Given the description of an element on the screen output the (x, y) to click on. 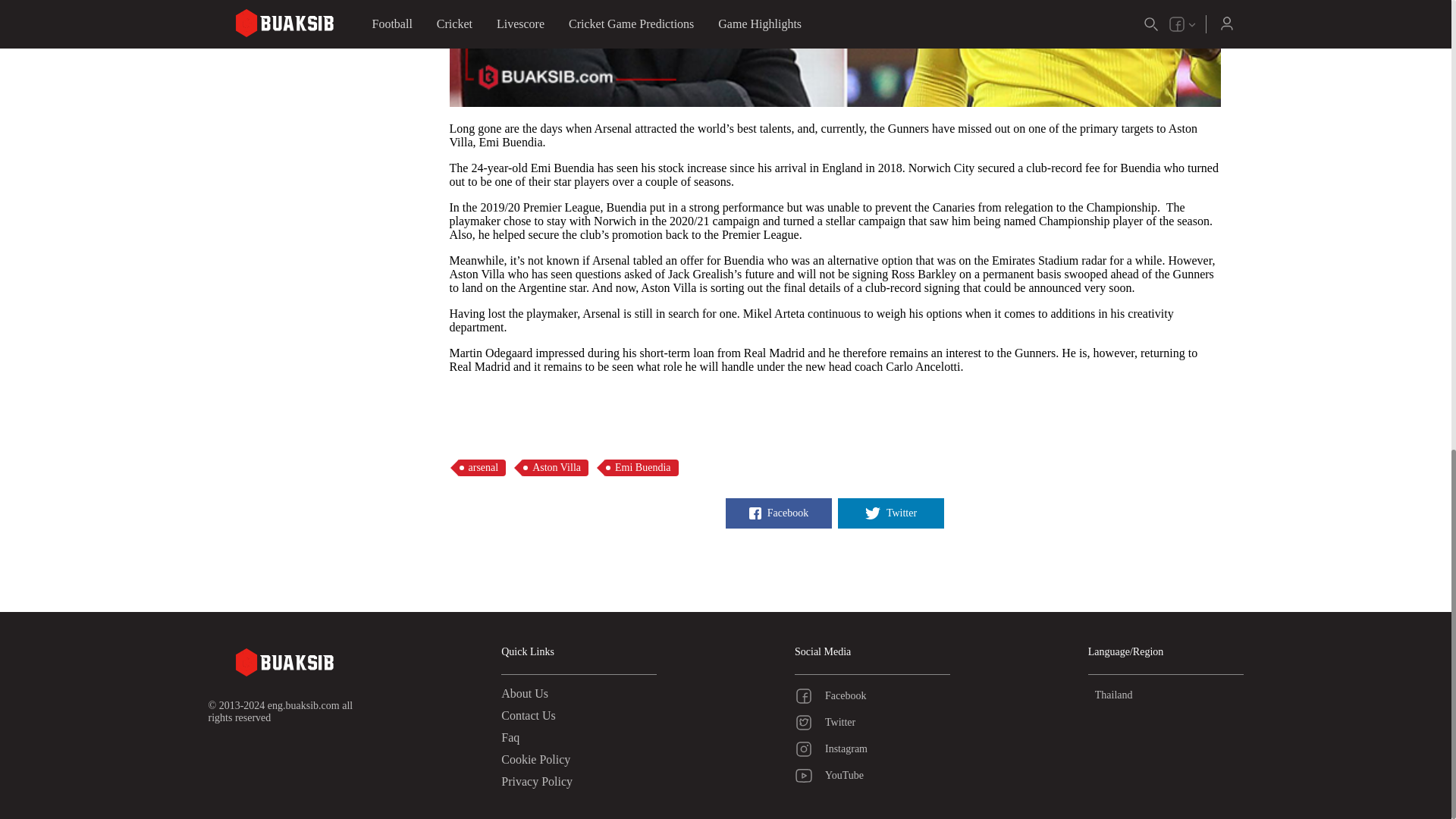
Facebook (778, 512)
Aston Villa (554, 467)
Privacy Policy (536, 780)
arsenal (481, 467)
About Us (524, 693)
Facebook (872, 696)
Contact Us (528, 715)
Emi Buendia (641, 467)
Faq (509, 737)
Aston Villa (554, 467)
